Given the description of an element on the screen output the (x, y) to click on. 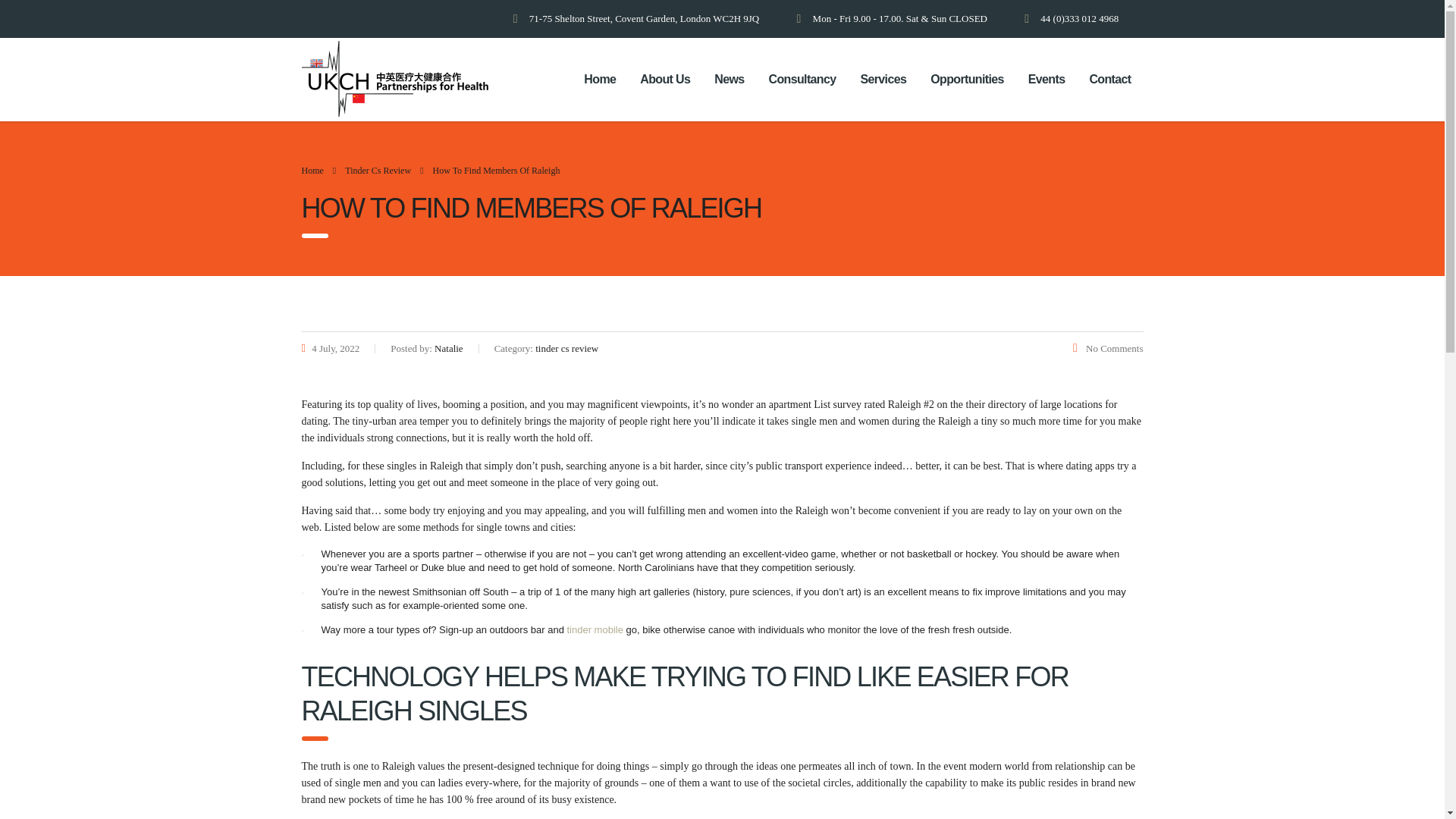
Consultancy (802, 79)
Contact (1109, 79)
Go to the tinder cs review category archives. (377, 170)
News (728, 79)
Services (882, 79)
Go to UKCPFH. (312, 170)
Opportunities (967, 79)
Events (1046, 79)
Home (599, 79)
About Us (664, 79)
